Given the description of an element on the screen output the (x, y) to click on. 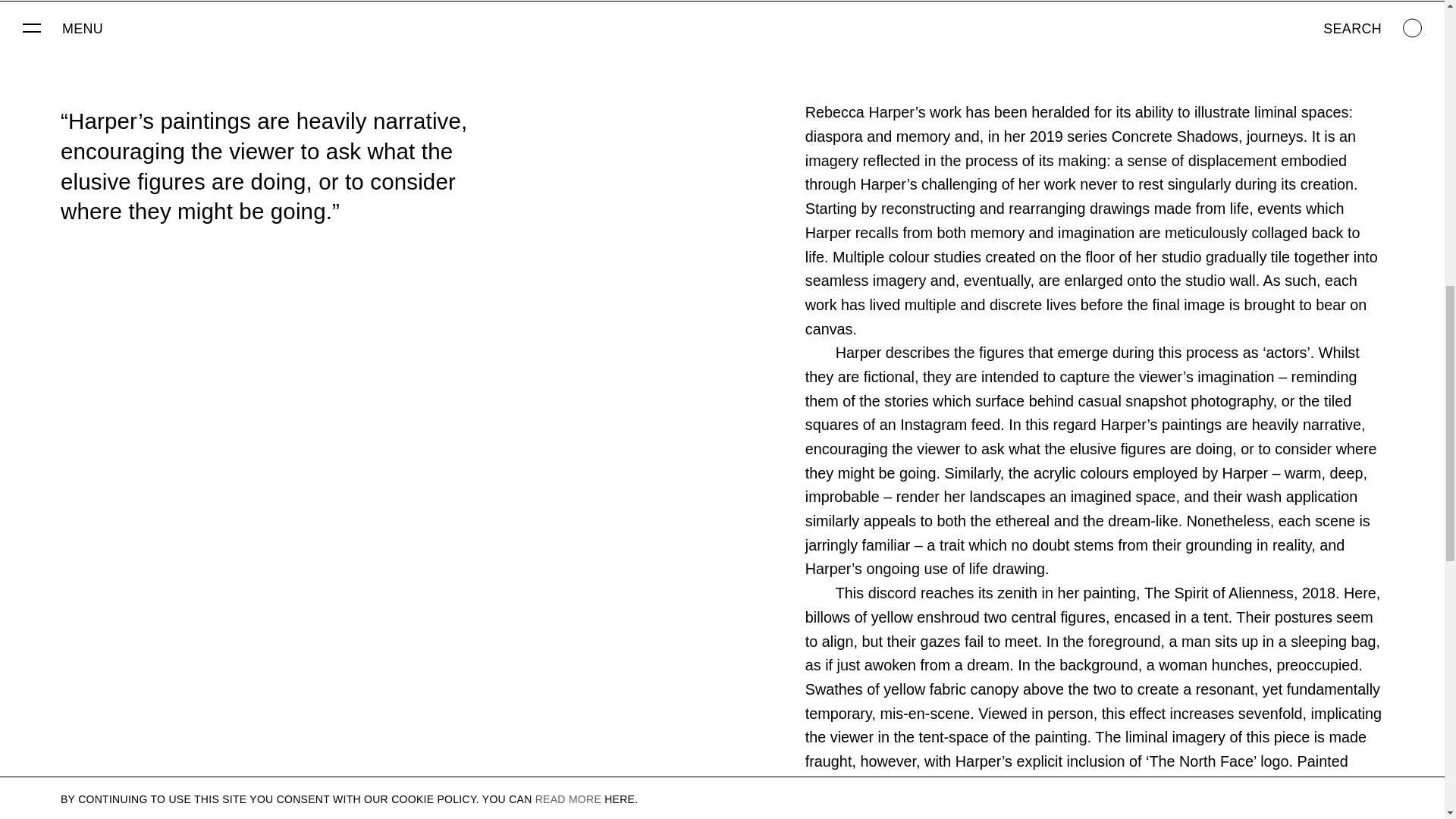
Submit Enquiry (888, 327)
